Given the description of an element on the screen output the (x, y) to click on. 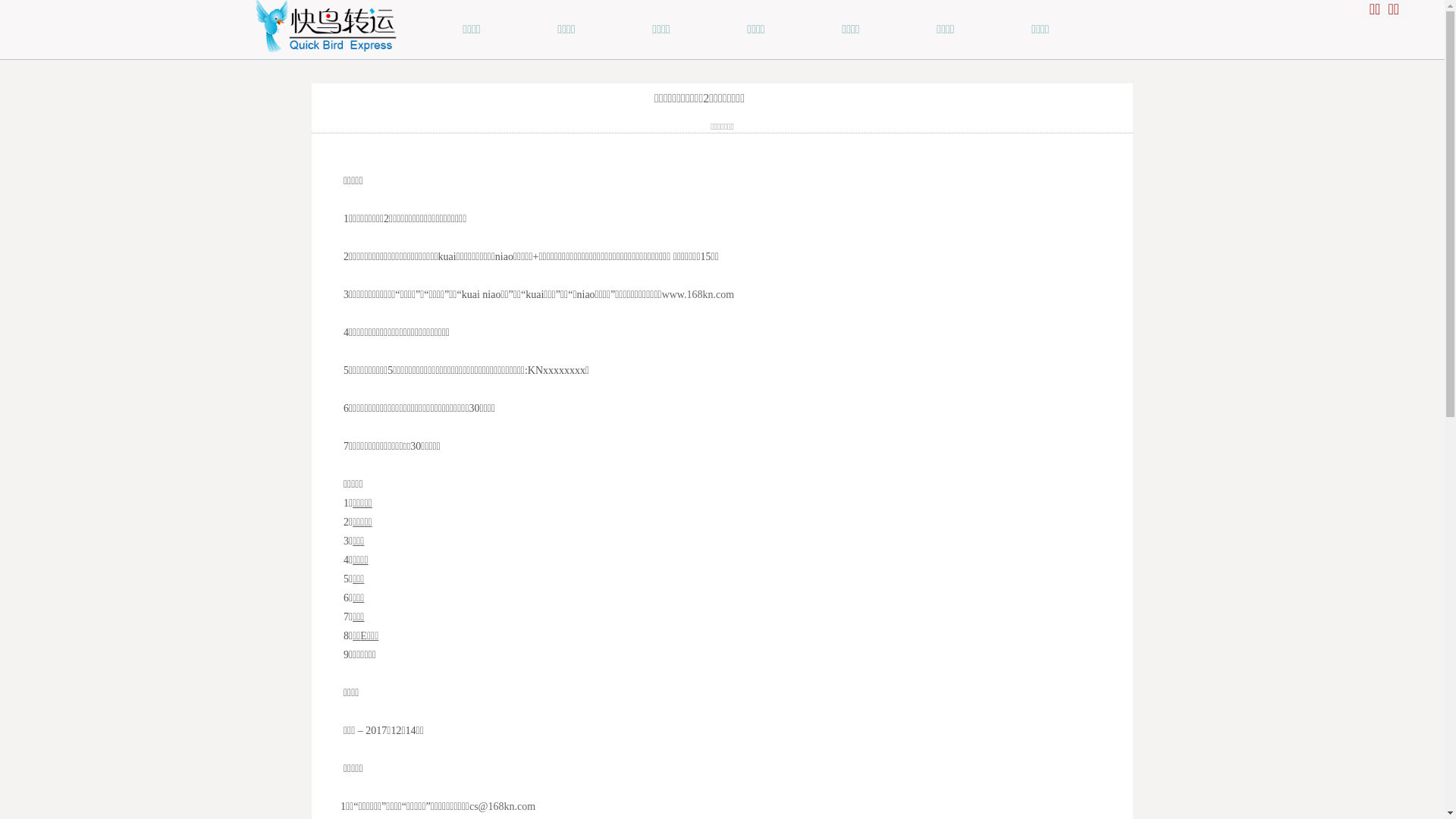
cs@168kn.com Element type: text (502, 806)
www.168kn.com Element type: text (698, 294)
